Given the description of an element on the screen output the (x, y) to click on. 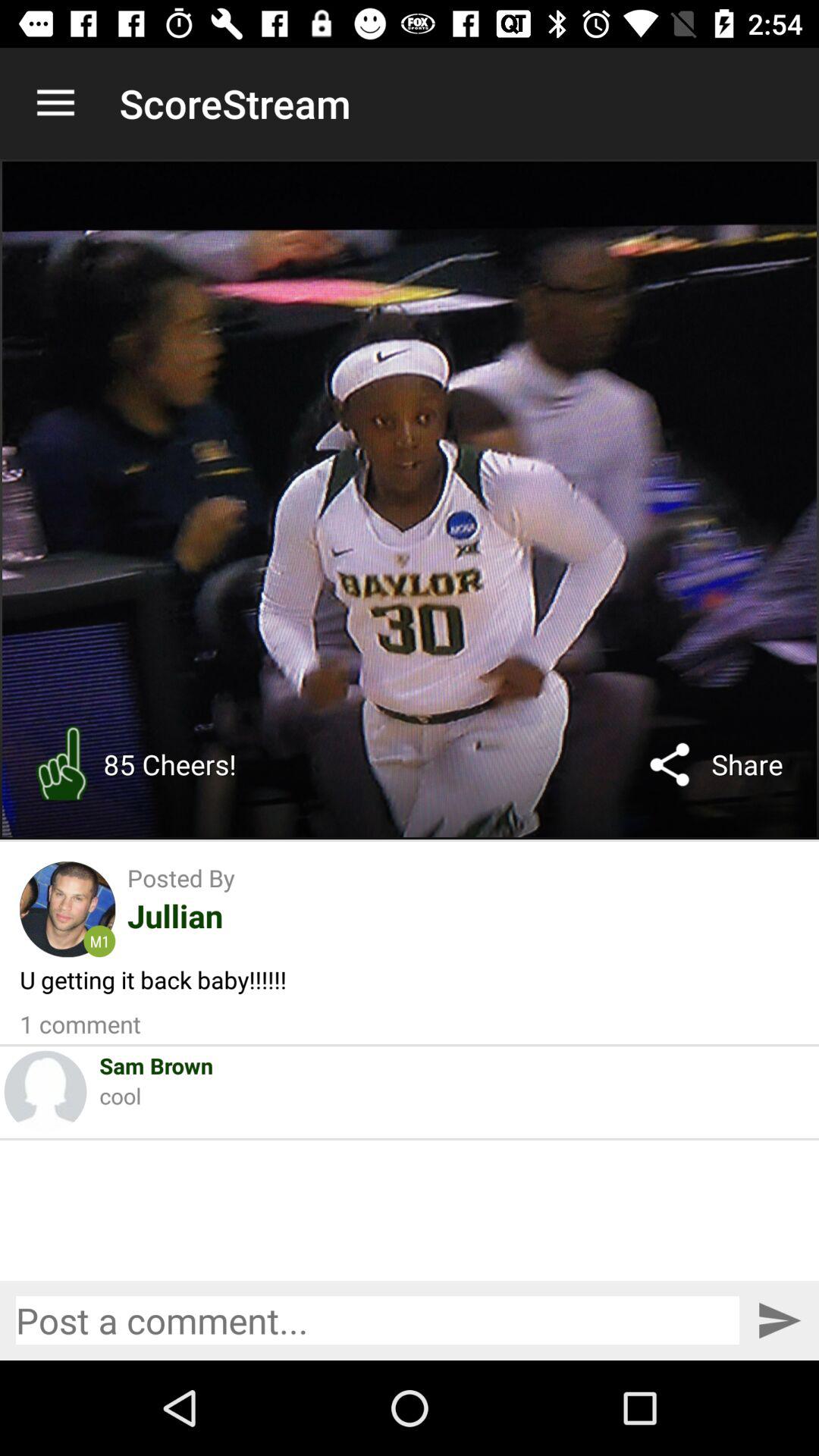
turn on the icon next to 85 cheers! (669, 764)
